Given the description of an element on the screen output the (x, y) to click on. 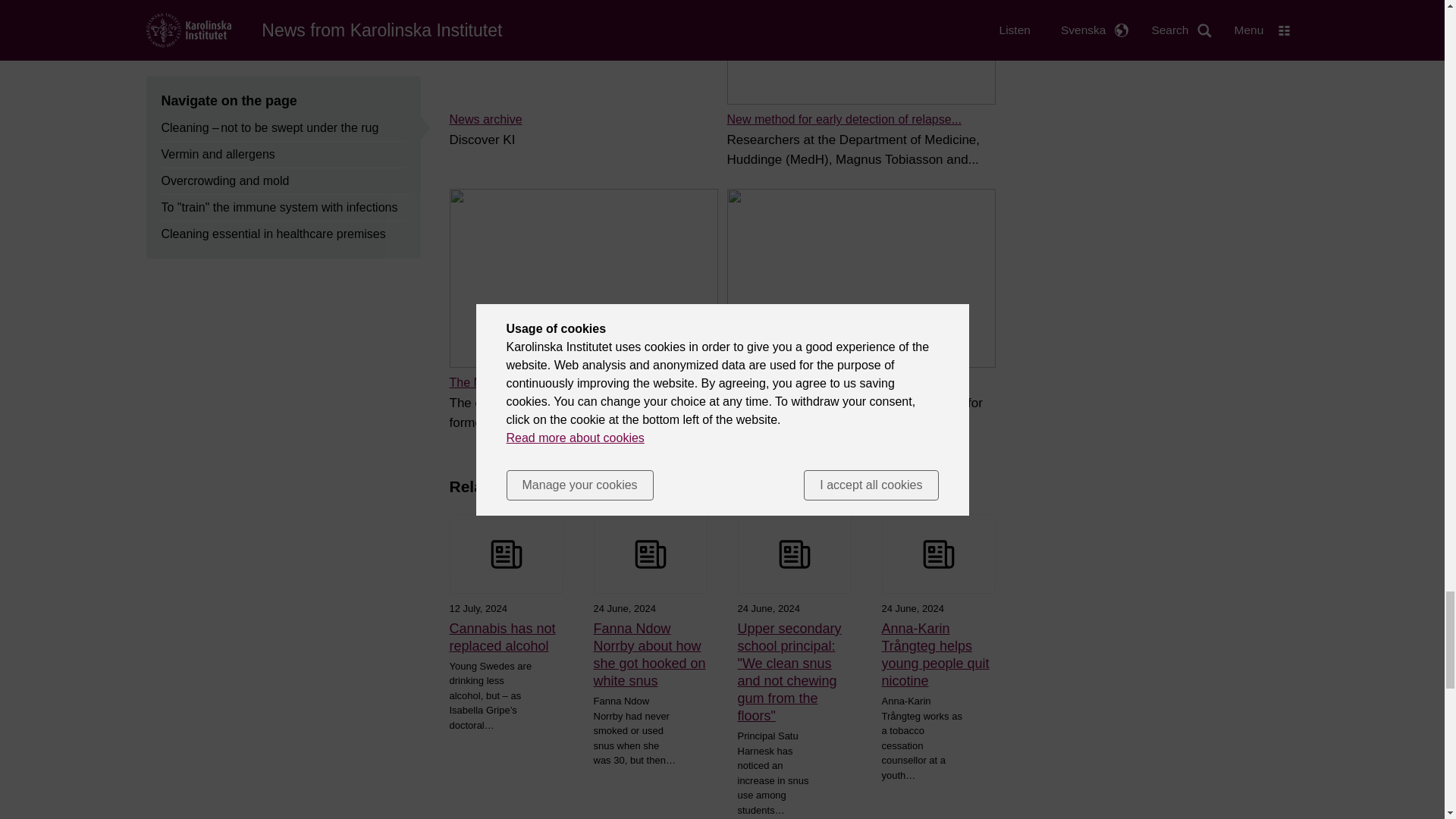
Innovative digital tool enables monitoring... (840, 382)
The Macchiarini case: Timeline (531, 382)
Innovative digital tool enables monitoring... (840, 382)
News archive (484, 119)
New method for early detection of relapse... (843, 119)
New method for early detection of relapse... (843, 119)
News archive (484, 119)
Cannabis has not replaced alcohol (505, 637)
The Macchiarini case: Timeline (531, 382)
Fanna Ndow Norrby about how she got hooked on white snus (649, 654)
